Given the description of an element on the screen output the (x, y) to click on. 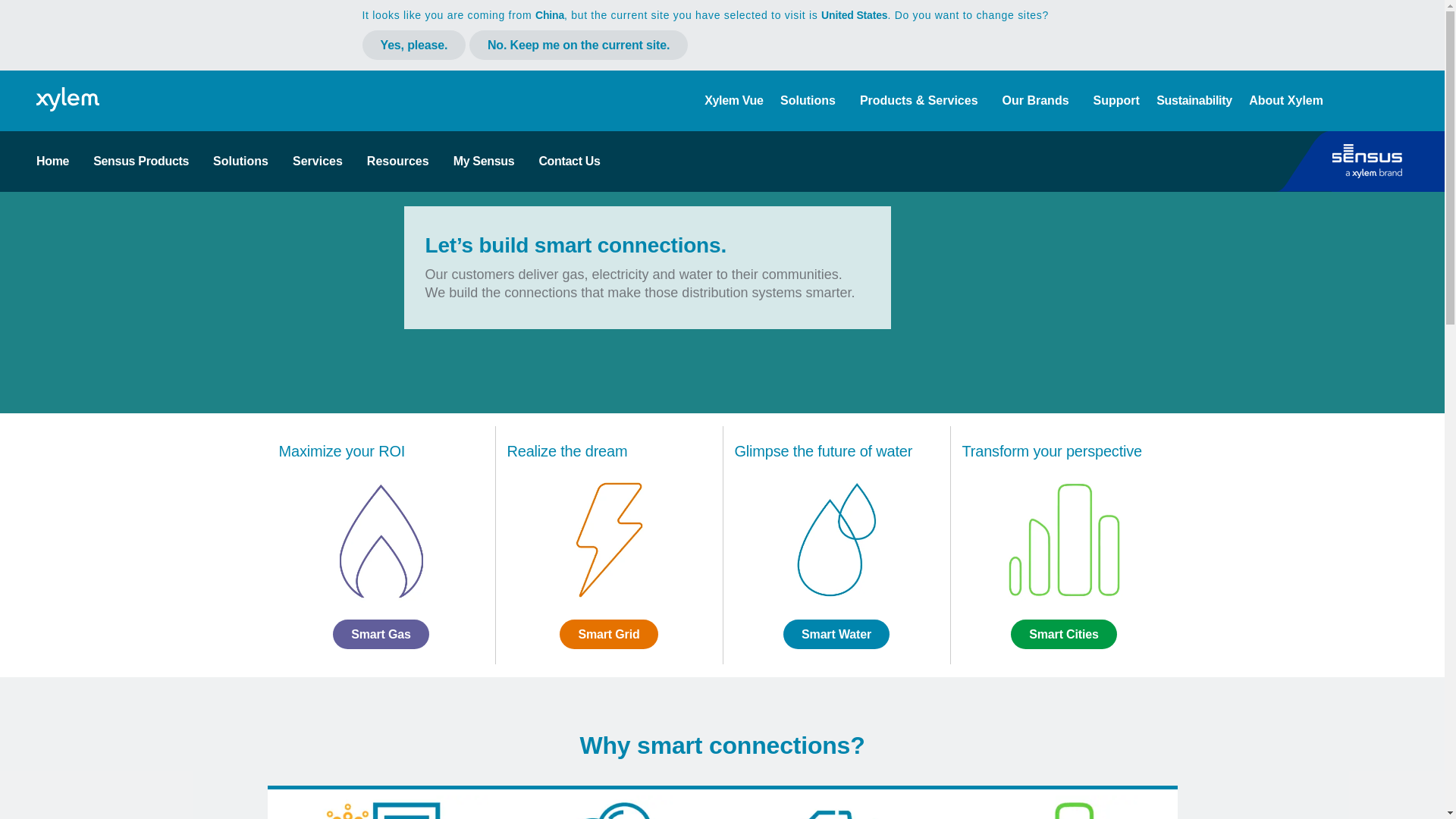
Solutions (807, 100)
No. Keep me on the current site. (577, 44)
Xylem Vue (734, 100)
Xylem Vue (734, 100)
Yes, please. (413, 44)
